Given the description of an element on the screen output the (x, y) to click on. 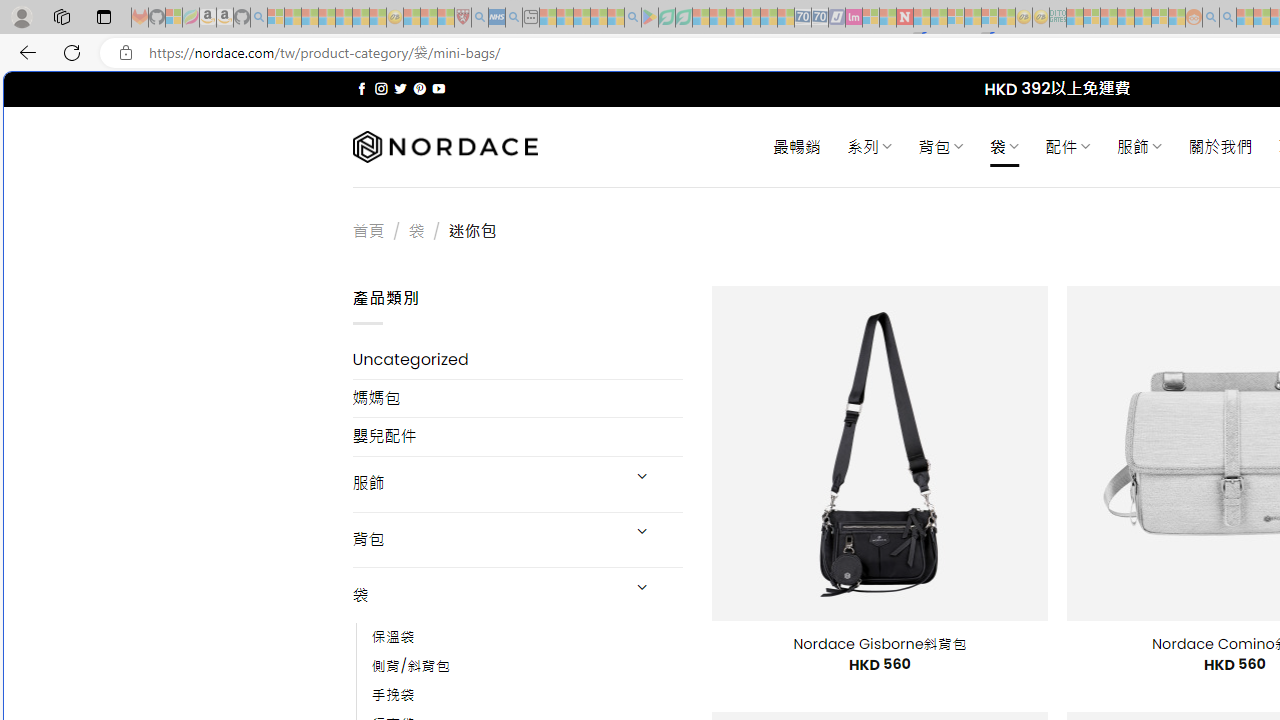
Jobs - lastminute.com Investor Portal - Sleeping (853, 17)
Uncategorized (517, 359)
DITOGAMES AG Imprint - Sleeping (1057, 17)
Cheap Car Rentals - Save70.com - Sleeping (802, 17)
